Given the description of an element on the screen output the (x, y) to click on. 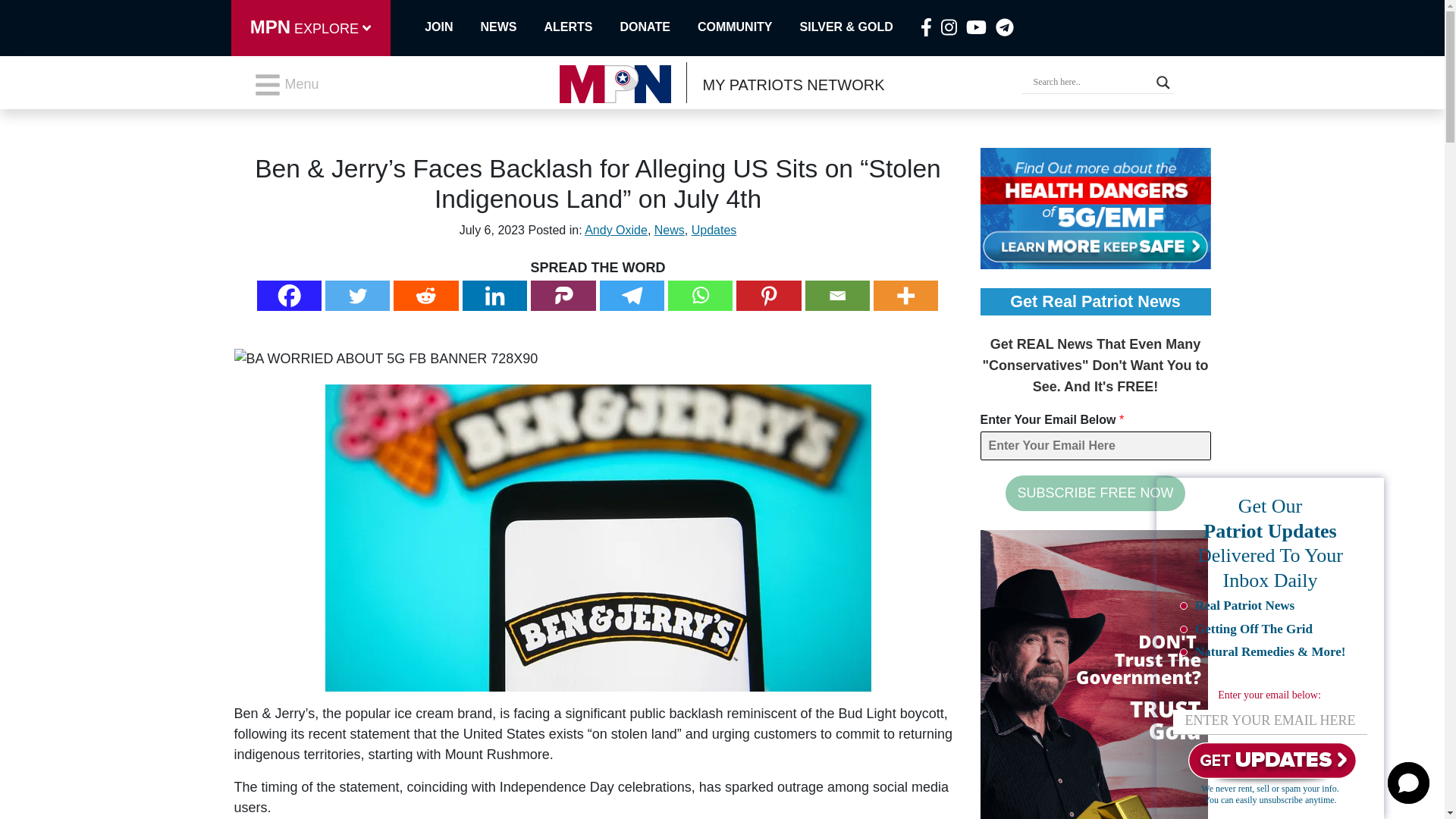
JOIN (443, 26)
ALERTS (582, 26)
NEWS (512, 26)
DONATE (658, 26)
ALERTS (582, 26)
NEWS (512, 26)
DONATE (658, 26)
COMMUNITY (748, 26)
MPN EXPLORE (310, 28)
Menu (285, 84)
COMMUNITY (748, 26)
JOIN (443, 26)
